Given the description of an element on the screen output the (x, y) to click on. 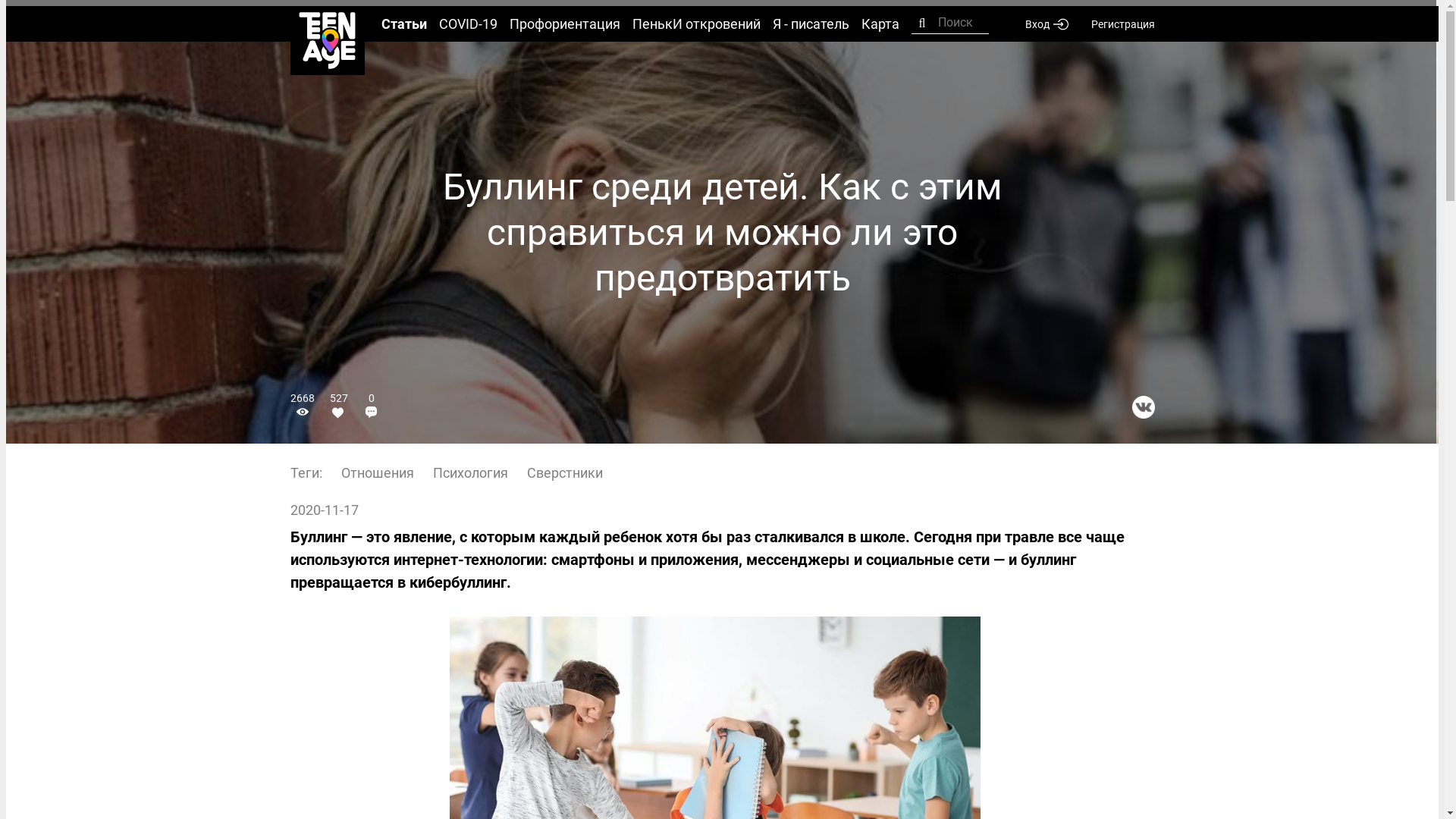
COVID-19 Element type: text (467, 24)
527 Element type: text (338, 406)
